Given the description of an element on the screen output the (x, y) to click on. 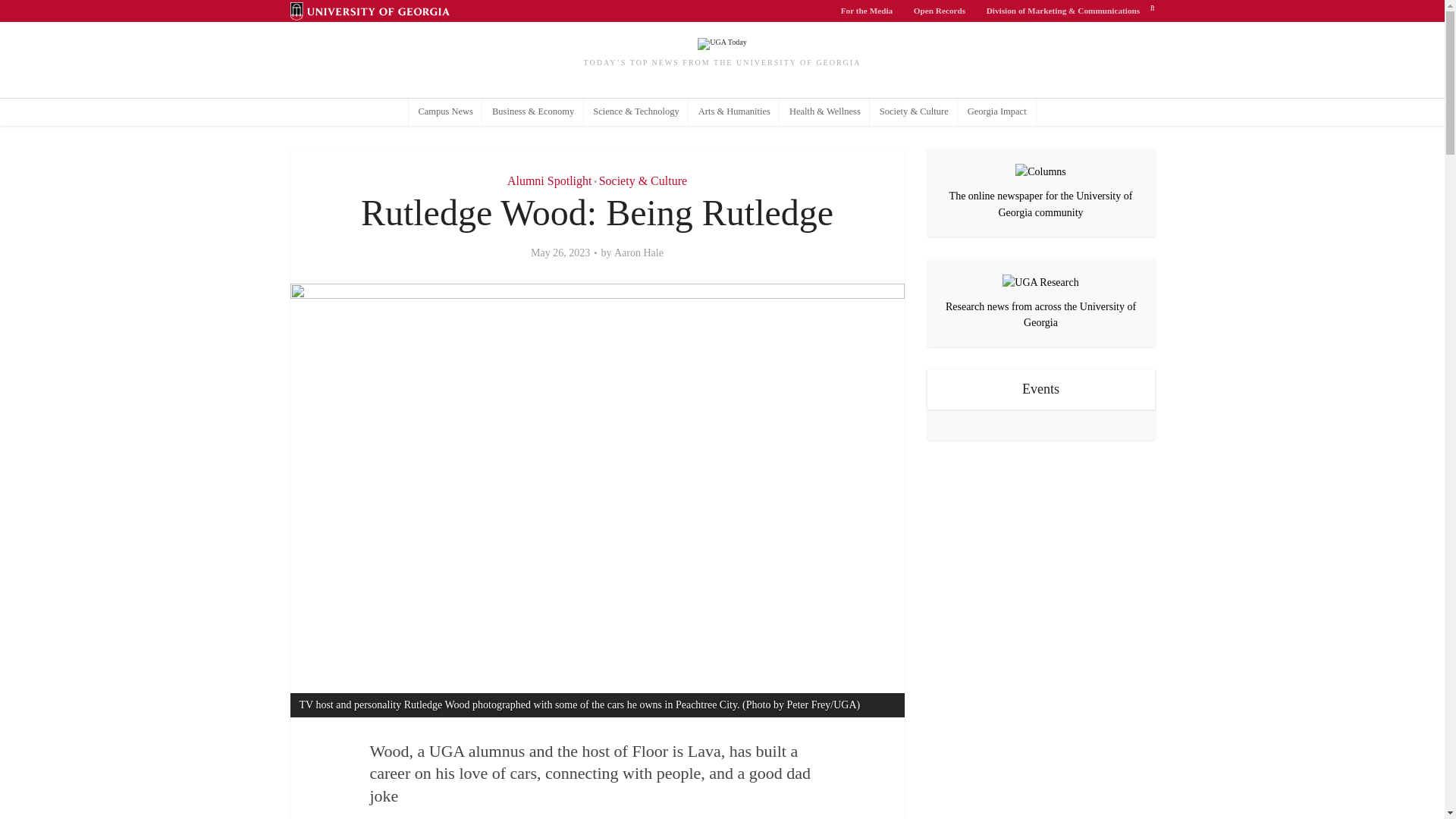
For the Media (866, 10)
Open Records (939, 10)
Georgia Impact (996, 112)
Alumni Spotlight (549, 180)
Aaron Hale (638, 253)
Campus News (446, 112)
